Given the description of an element on the screen output the (x, y) to click on. 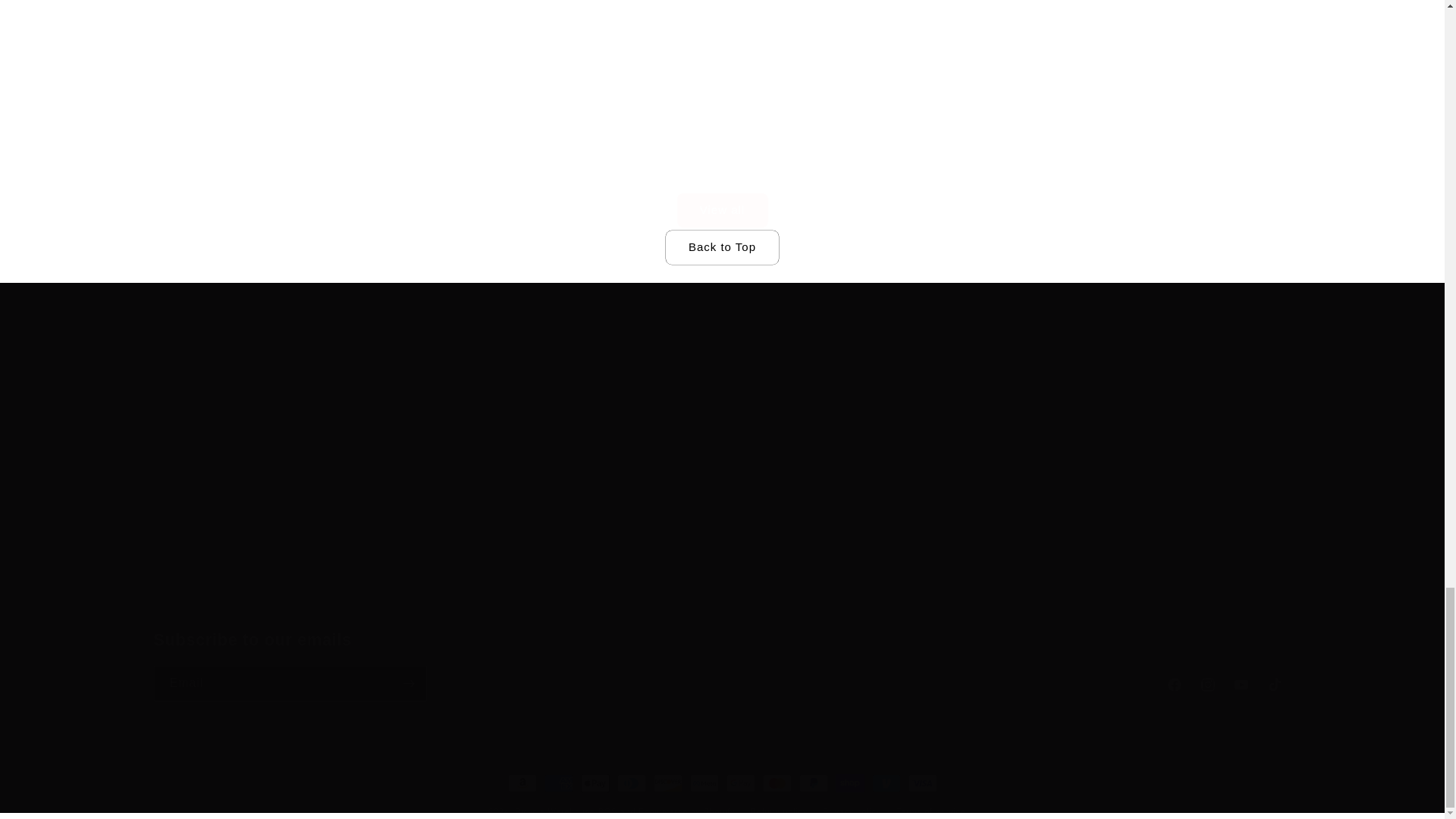
Bicycle Warehouse Locations (1058, 479)
View all (721, 191)
